Given the description of an element on the screen output the (x, y) to click on. 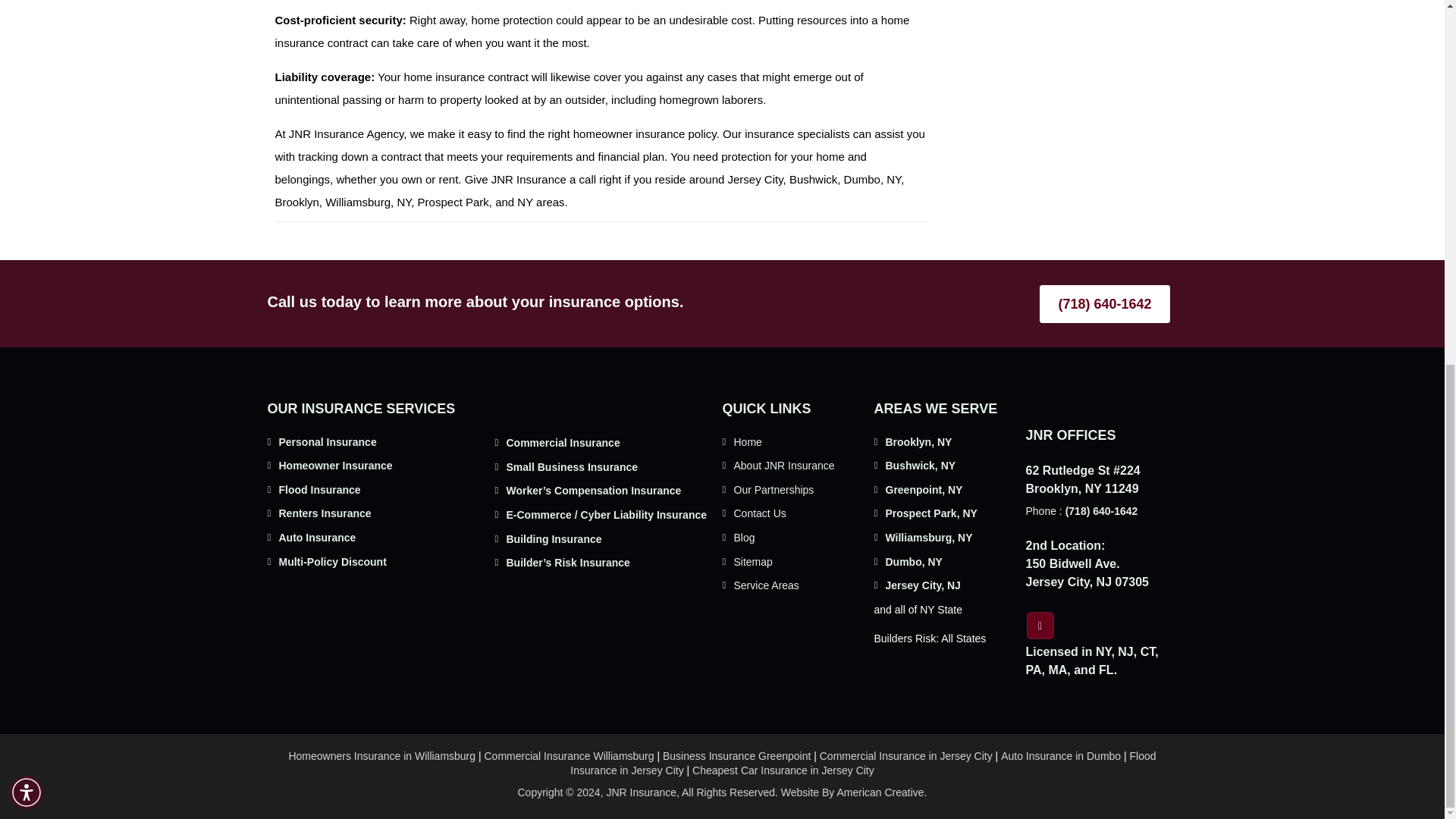
Commercial Insurance (563, 442)
Renters Insurance (325, 512)
Homeowner Insurance (336, 465)
Accessibility Menu (26, 139)
Personal Insurance (328, 441)
Multi-Policy Discount (333, 562)
Facebook (1040, 625)
Building Insurance (554, 539)
Home (747, 441)
Auto Insurance (317, 537)
JNR Insurance (529, 178)
Flood Insurance (320, 490)
Small Business Insurance (572, 467)
